Given the description of an element on the screen output the (x, y) to click on. 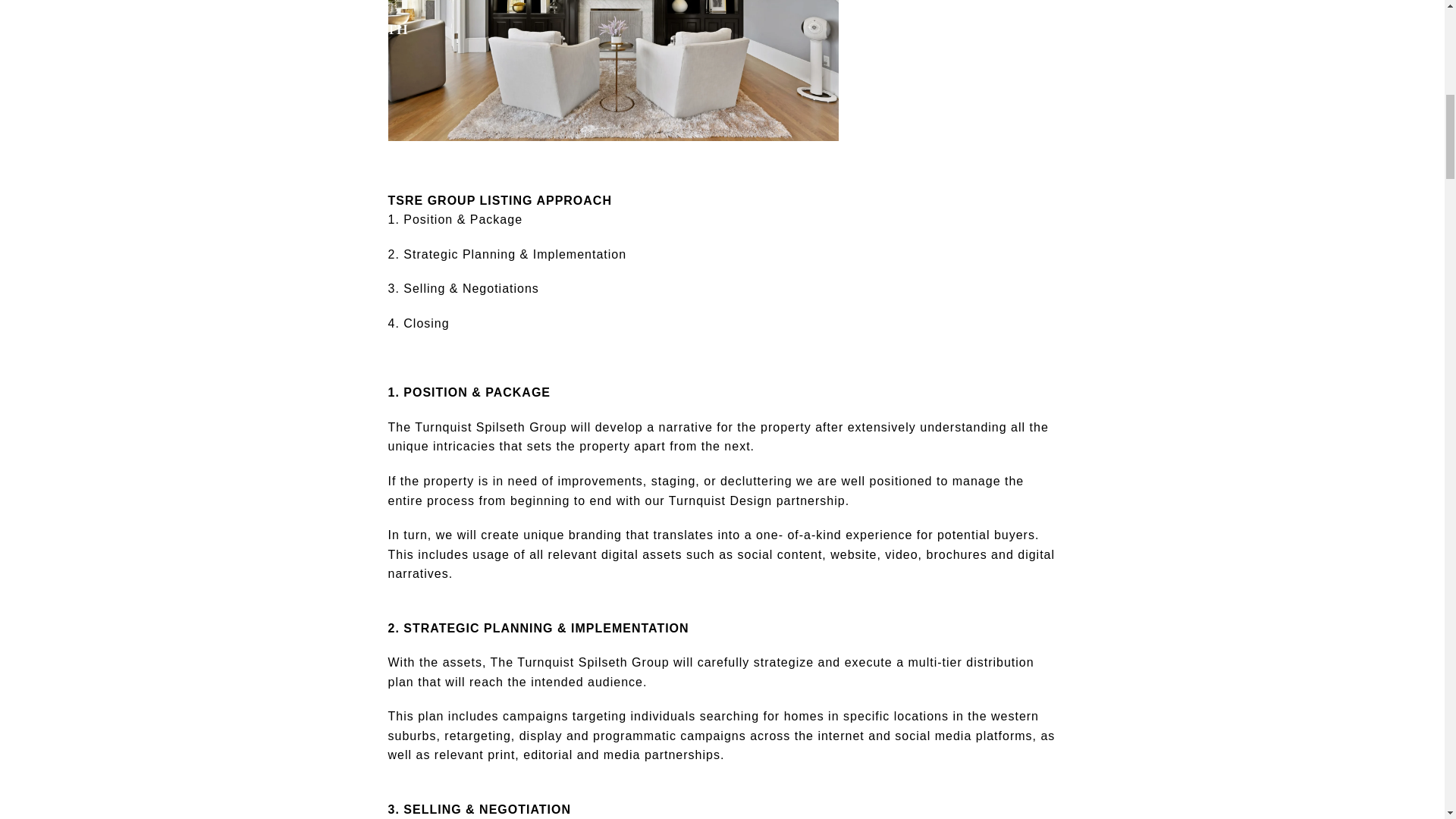
Page 5 (722, 809)
Page 4 (722, 719)
Page 3 (722, 483)
